Given the description of an element on the screen output the (x, y) to click on. 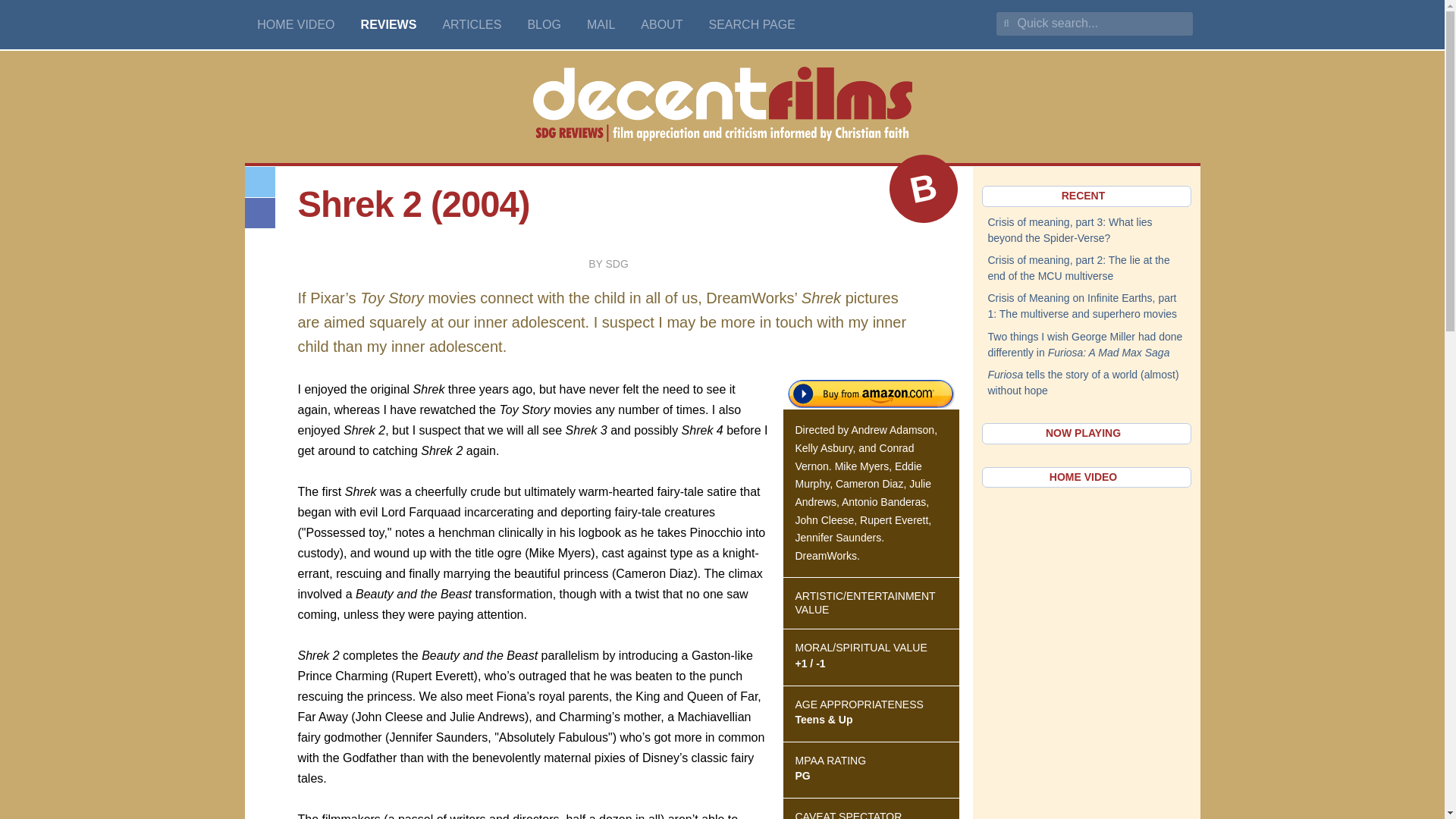
HOME VIDEO (295, 24)
ABOUT (662, 24)
RECENT (1086, 196)
BLOG (544, 24)
NOW PLAYING (1086, 433)
MAIL (600, 24)
Share on Twitter (259, 182)
Share on Facebook (259, 213)
REVIEWS (388, 24)
HOME VIDEO (1086, 477)
SEARCH PAGE (751, 24)
ARTICLES (472, 24)
